Given the description of an element on the screen output the (x, y) to click on. 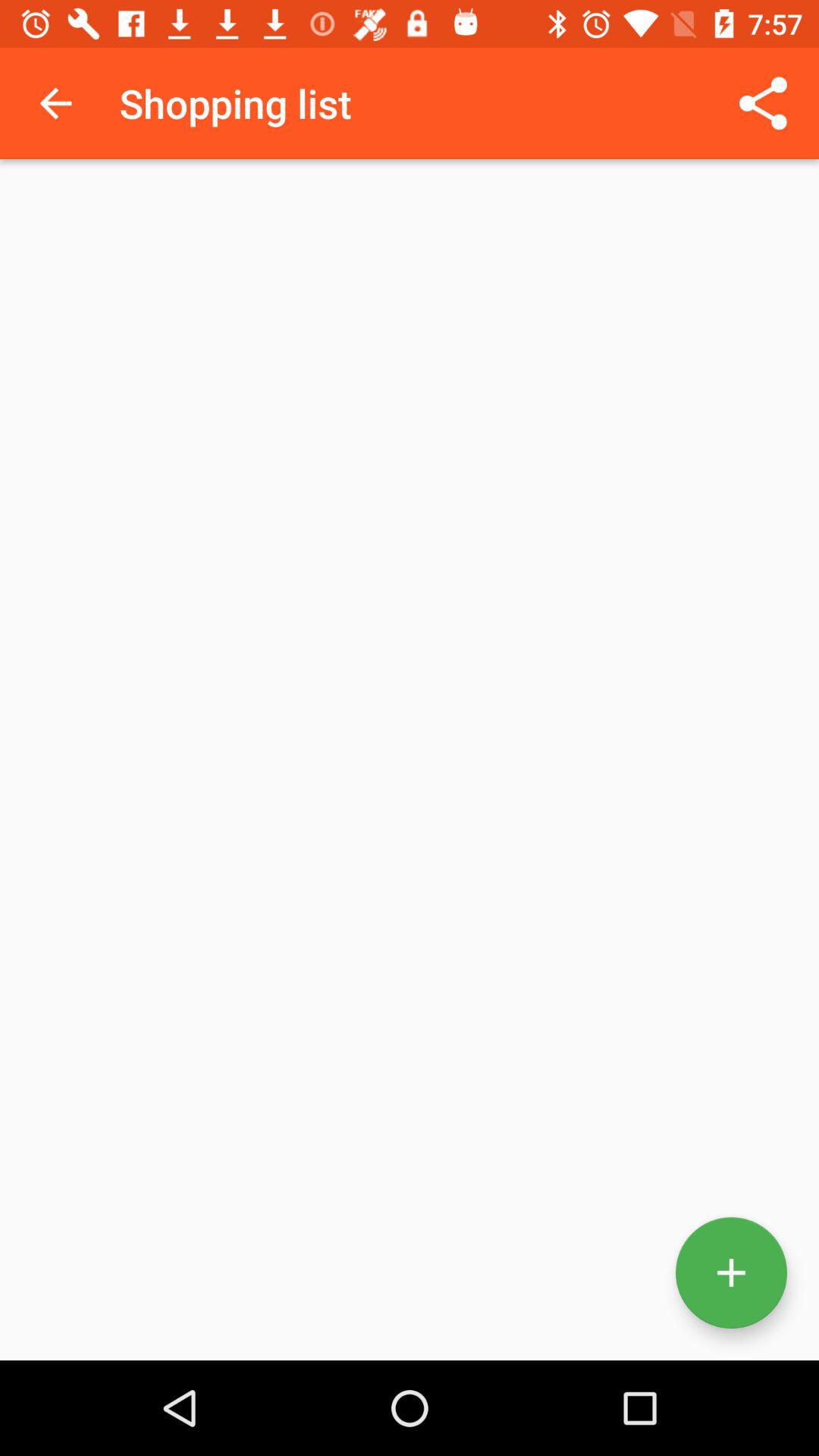
turn on the icon at the top right corner (763, 103)
